Given the description of an element on the screen output the (x, y) to click on. 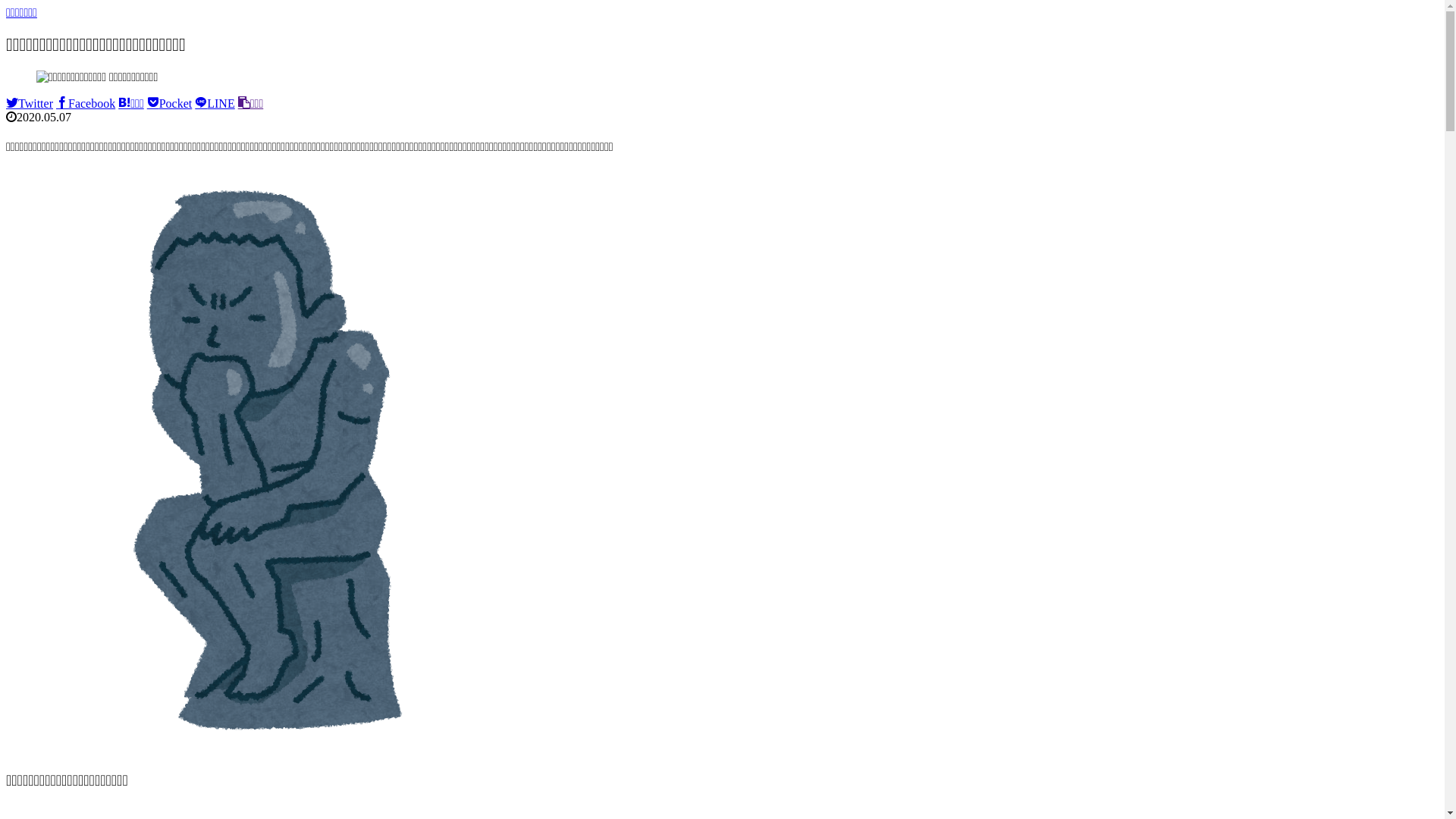
LINE Element type: text (214, 103)
Twitter Element type: text (29, 103)
Pocket Element type: text (169, 103)
Facebook Element type: text (85, 103)
